Given the description of an element on the screen output the (x, y) to click on. 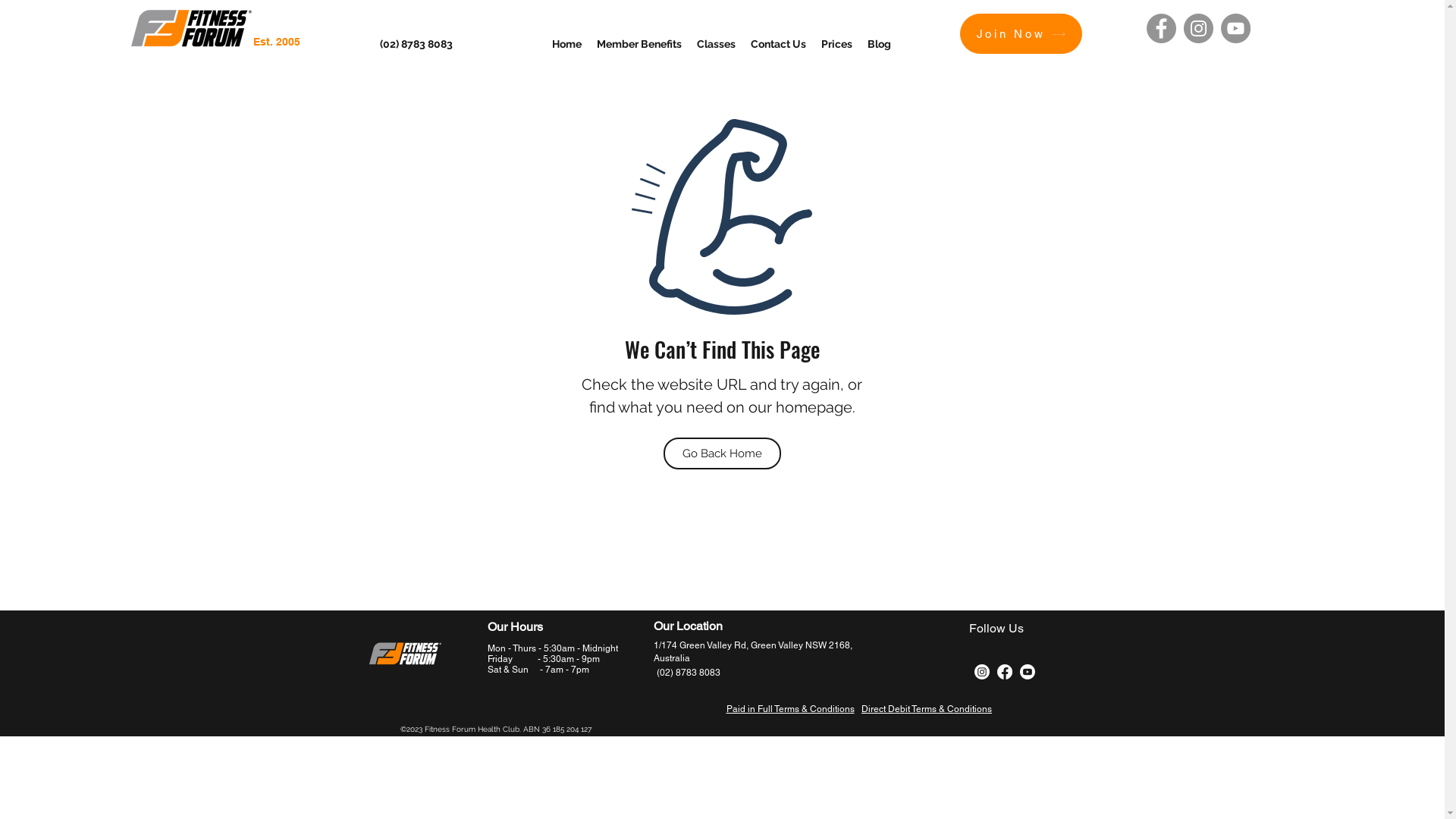
Contact Us Element type: text (778, 43)
Member Benefits Element type: text (639, 43)
Prices Element type: text (836, 43)
Classes Element type: text (716, 43)
Join Now Element type: text (1021, 33)
Direct Debit Terms & Conditions Element type: text (926, 708)
Go Back Home Element type: text (721, 453)
Blog Element type: text (878, 43)
Paid in Full Terms & Conditions Element type: text (790, 708)
Home Element type: text (566, 43)
